Given the description of an element on the screen output the (x, y) to click on. 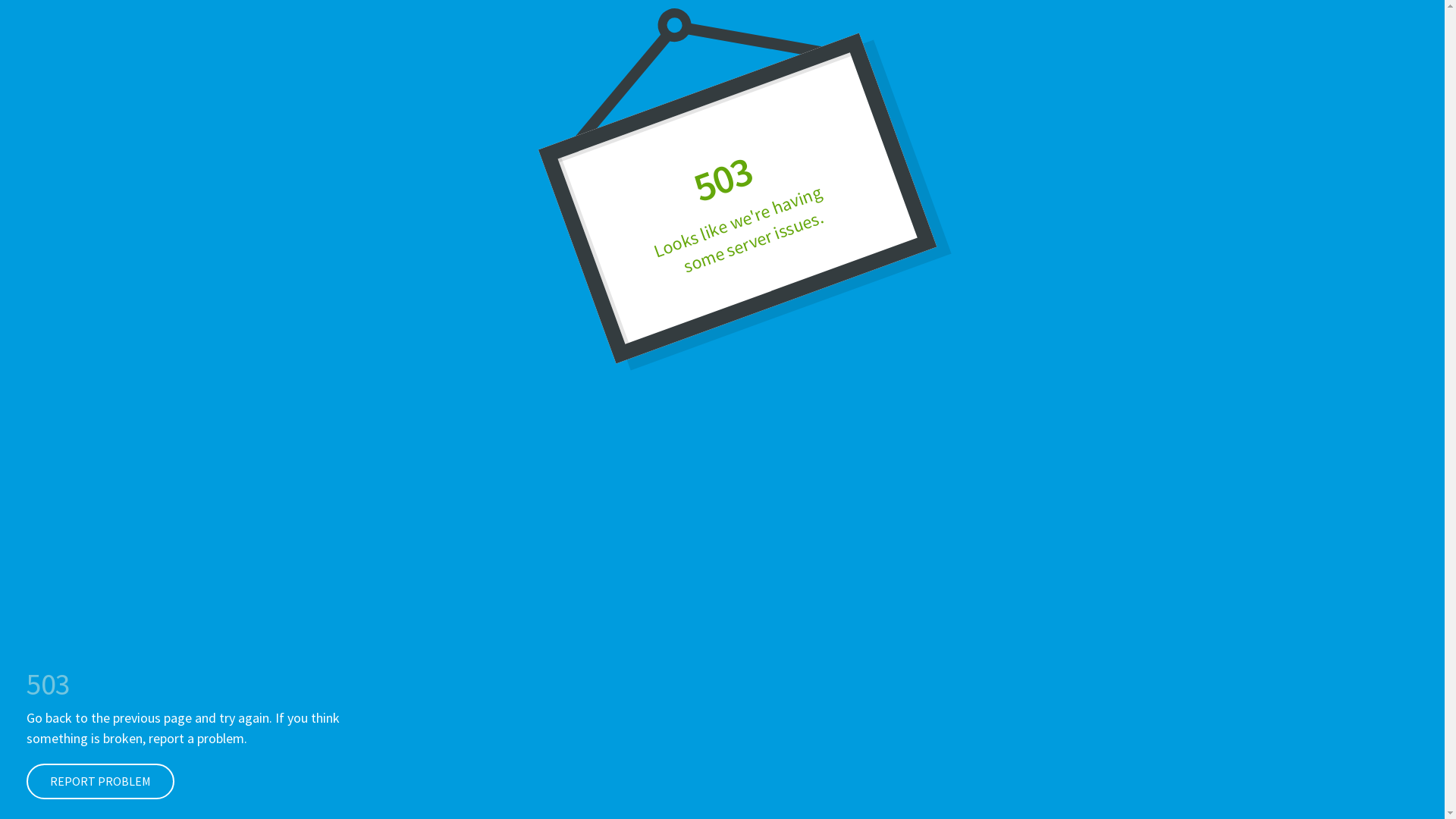
REPORT PROBLEM Element type: text (100, 781)
